Given the description of an element on the screen output the (x, y) to click on. 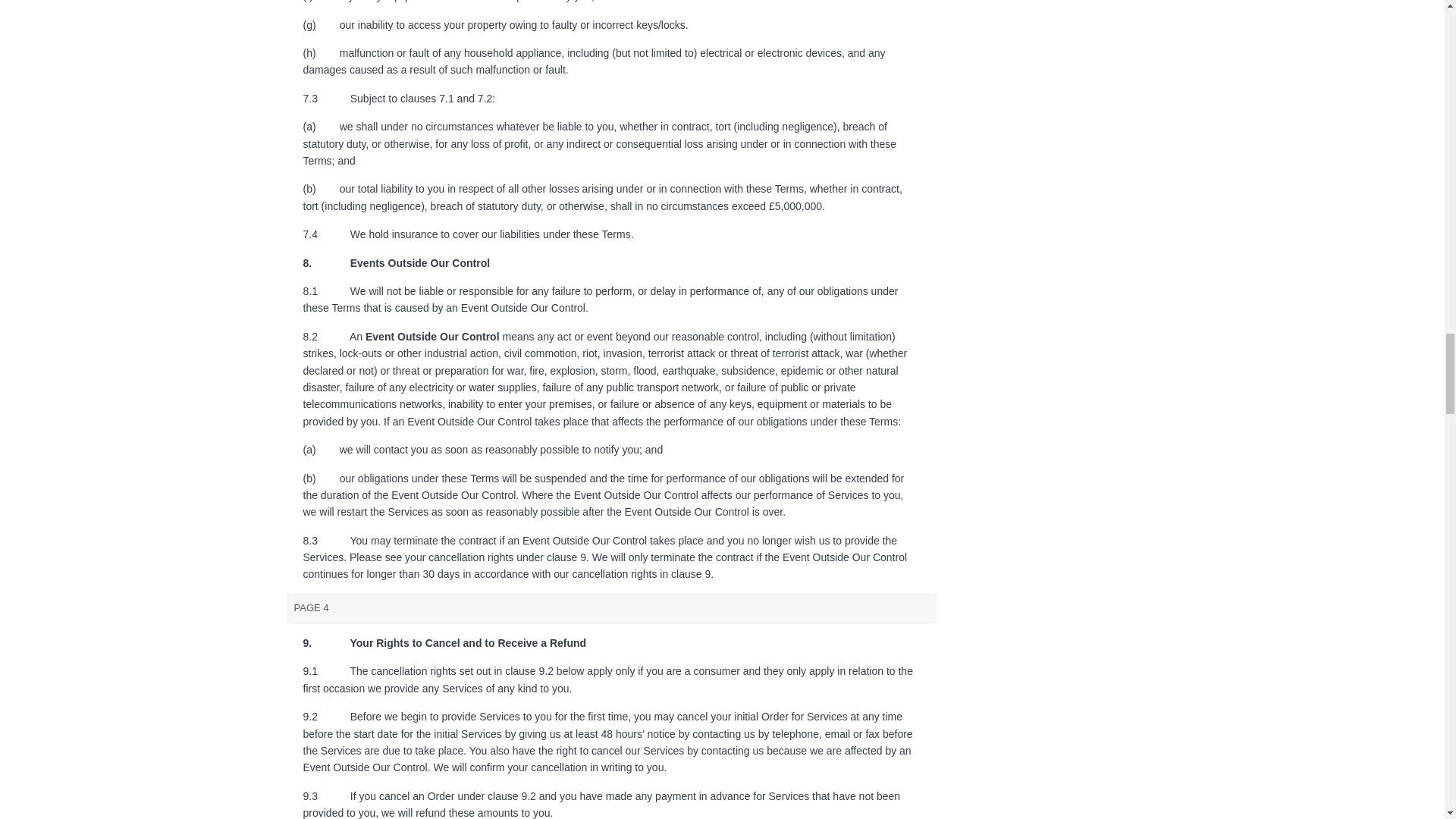
PAGE 4 (611, 608)
